Given the description of an element on the screen output the (x, y) to click on. 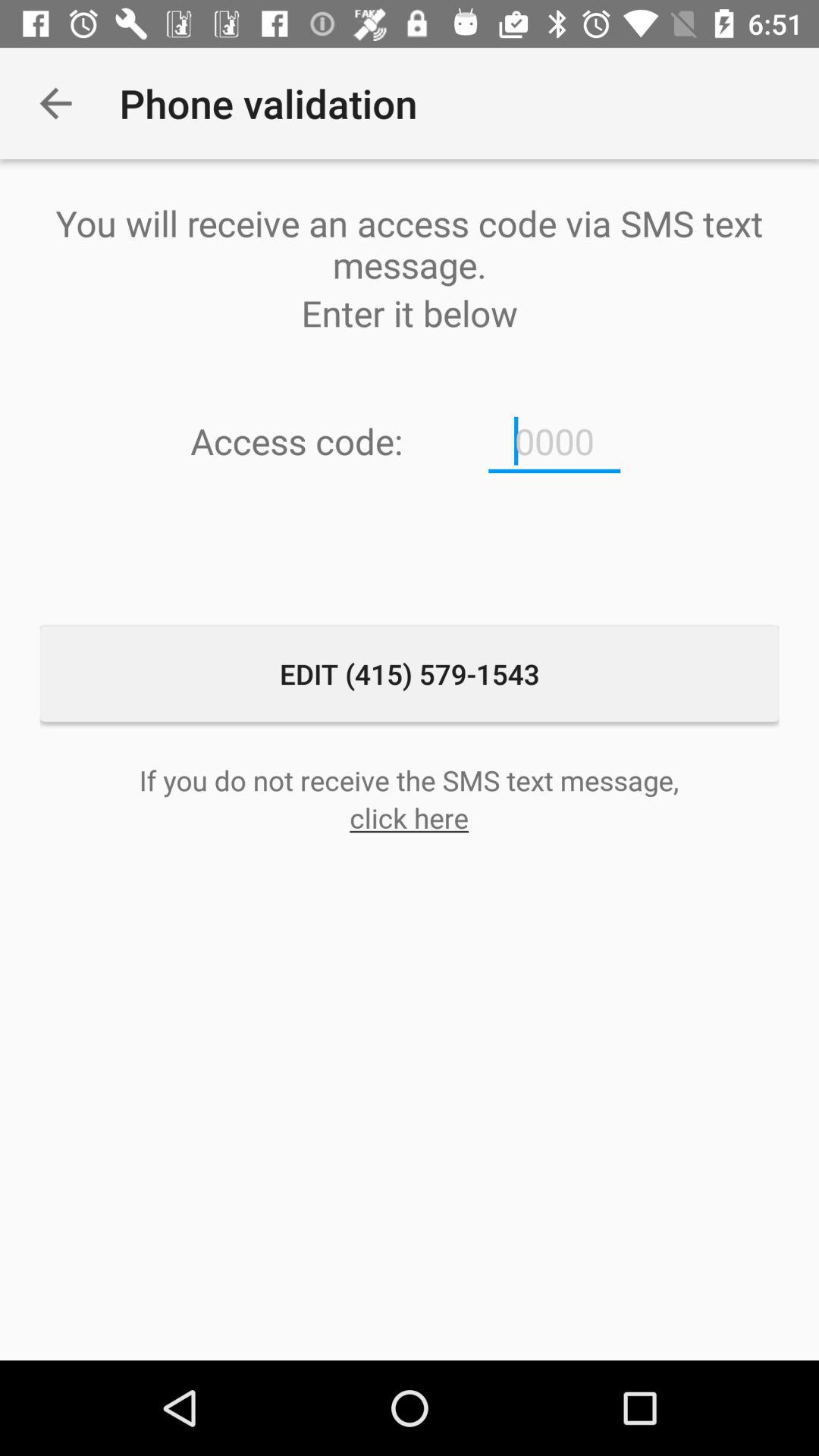
click the item below the edit 415 579 icon (409, 780)
